Given the description of an element on the screen output the (x, y) to click on. 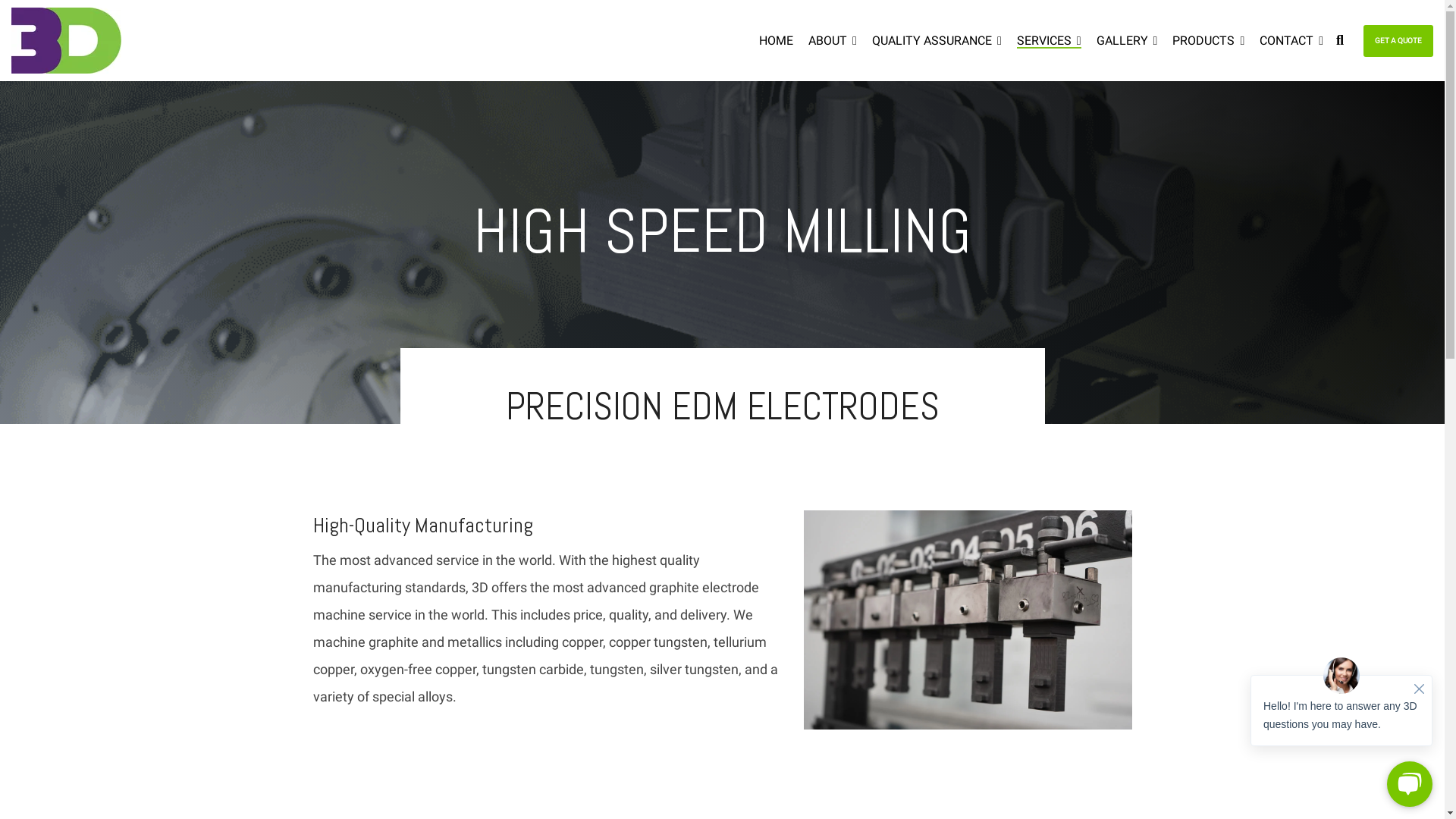
GALLERY Element type: text (1126, 40)
PRODUCTS Element type: text (1208, 40)
CONTACT Element type: text (1291, 40)
3D Brand Identity_Final_1B_2_outlines Element type: hover (66, 40)
SERVICES Element type: text (1048, 40)
QUALITY ASSURANCE Element type: text (936, 40)
ABOUT Element type: text (832, 40)
GET A QUOTE Element type: text (1398, 40)
Skip to the main content. Element type: text (0, 0)
HOME Element type: text (776, 40)
